Given the description of an element on the screen output the (x, y) to click on. 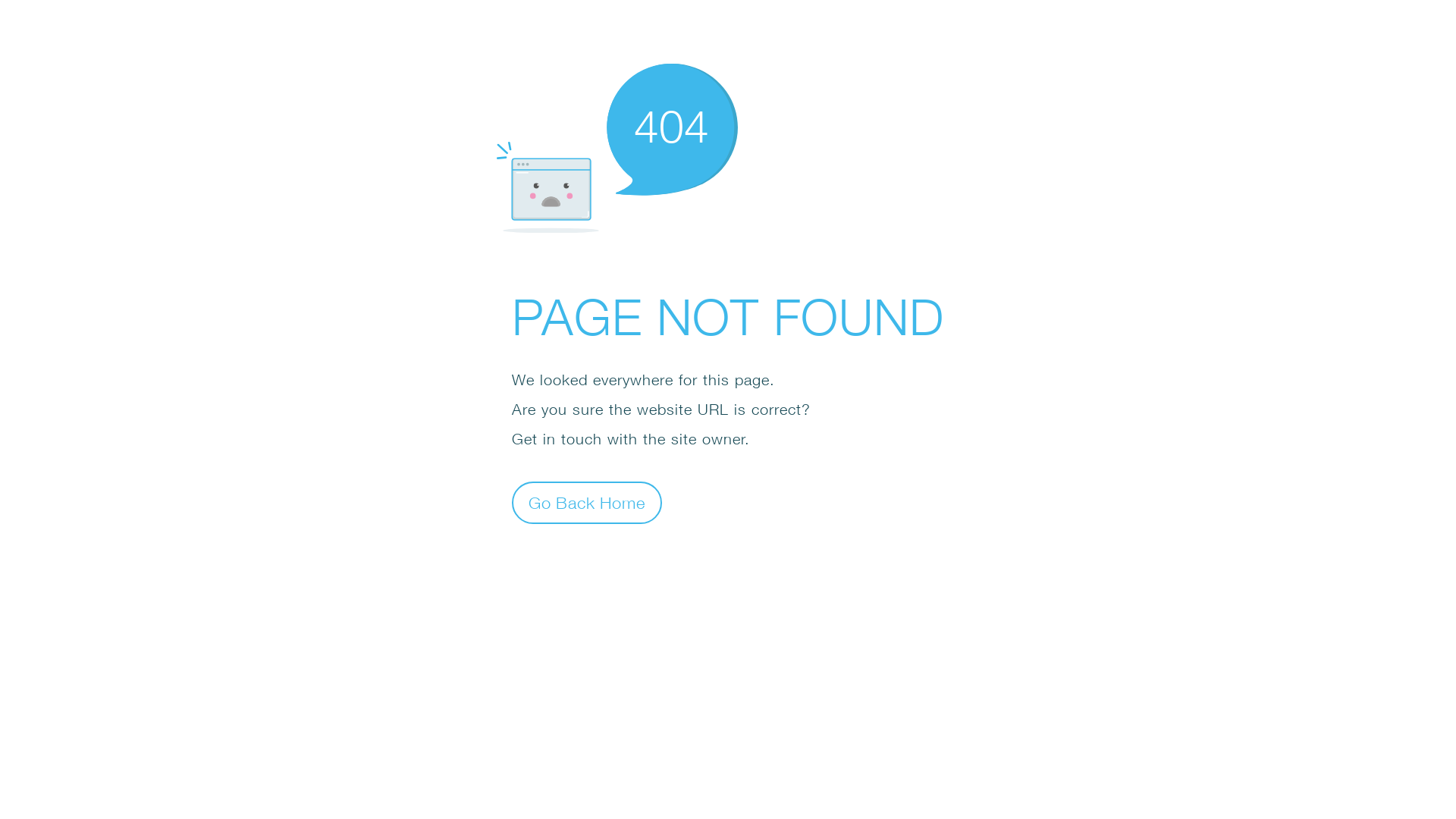
Go Back Home Element type: text (586, 502)
